Given the description of an element on the screen output the (x, y) to click on. 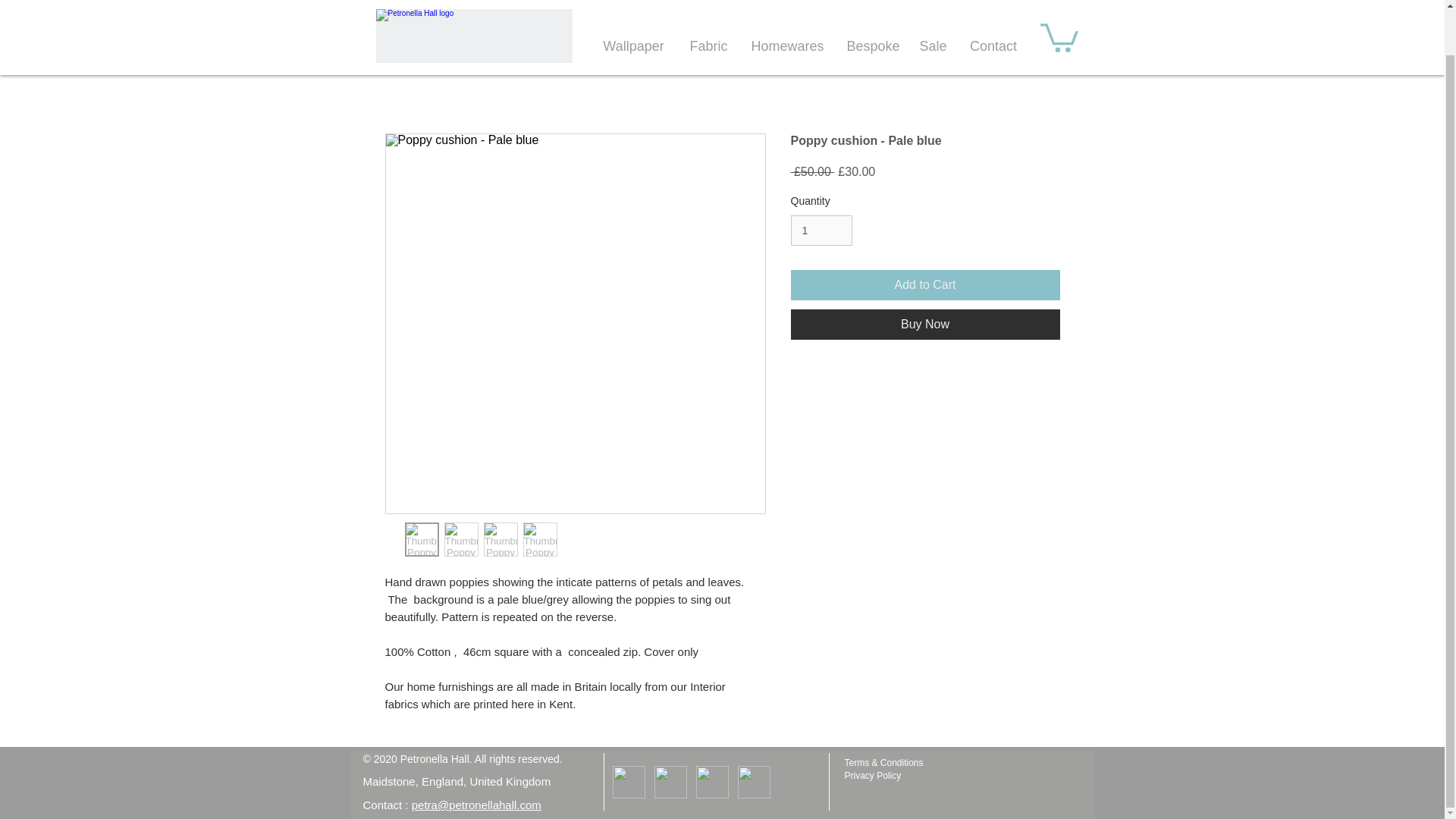
Home (473, 7)
Add to Cart (924, 285)
Buy Now (924, 324)
Privacy Policy (872, 775)
Contact (993, 7)
Sale (933, 7)
Bespoke (871, 7)
1 (820, 230)
